Given the description of an element on the screen output the (x, y) to click on. 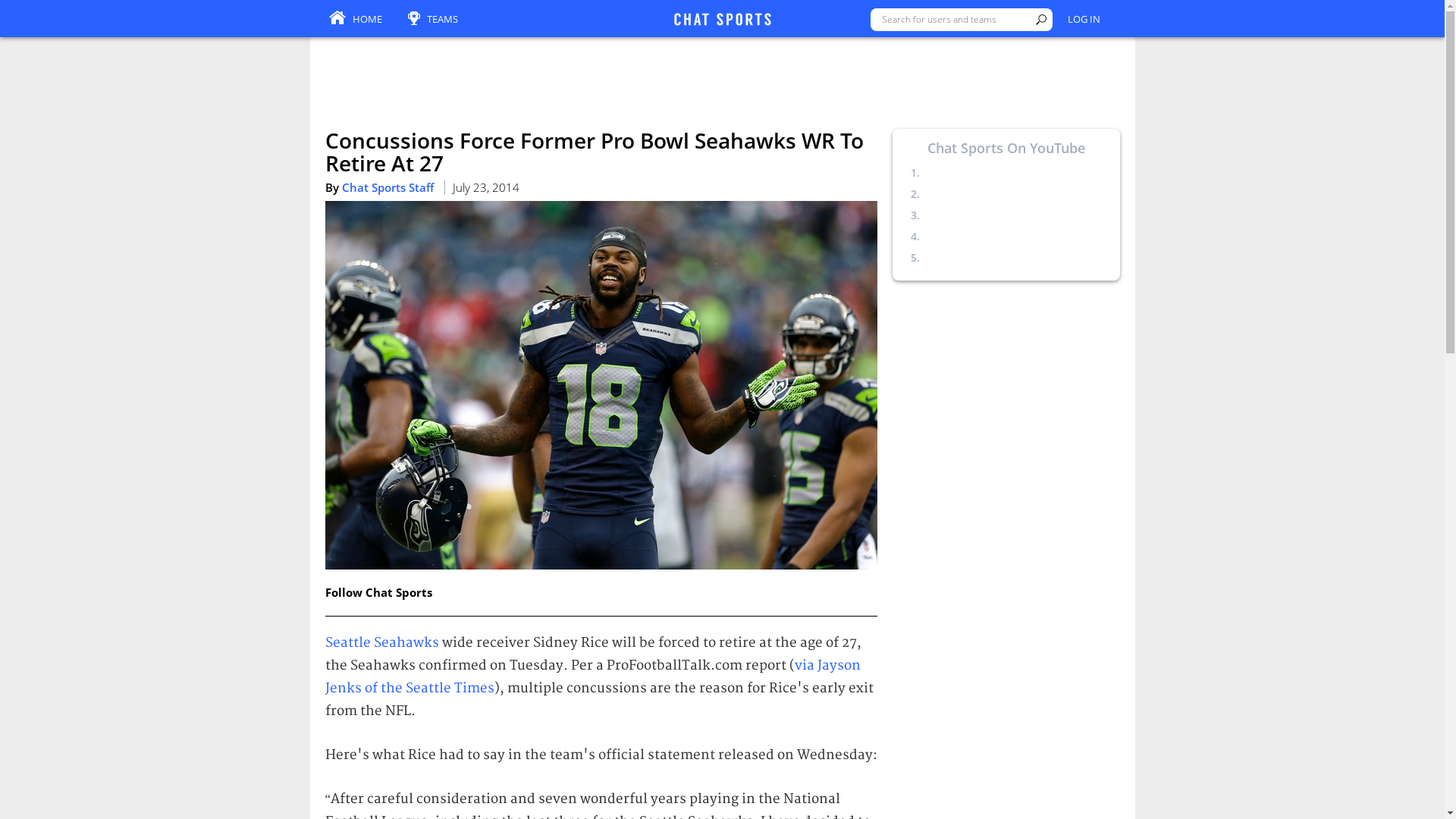
Subscribe: Cowboys Report (992, 193)
HOME (355, 19)
Seattle Seahawks (381, 642)
TEAMS (432, 19)
via Jayson Jenks of the Seattle Times (592, 676)
Chat Sports Staff (386, 186)
Subscribe: Lakers Report (986, 257)
submit (1040, 19)
CHATSPORTS (721, 19)
Subscribe: 49ers Report (983, 236)
